Given the description of an element on the screen output the (x, y) to click on. 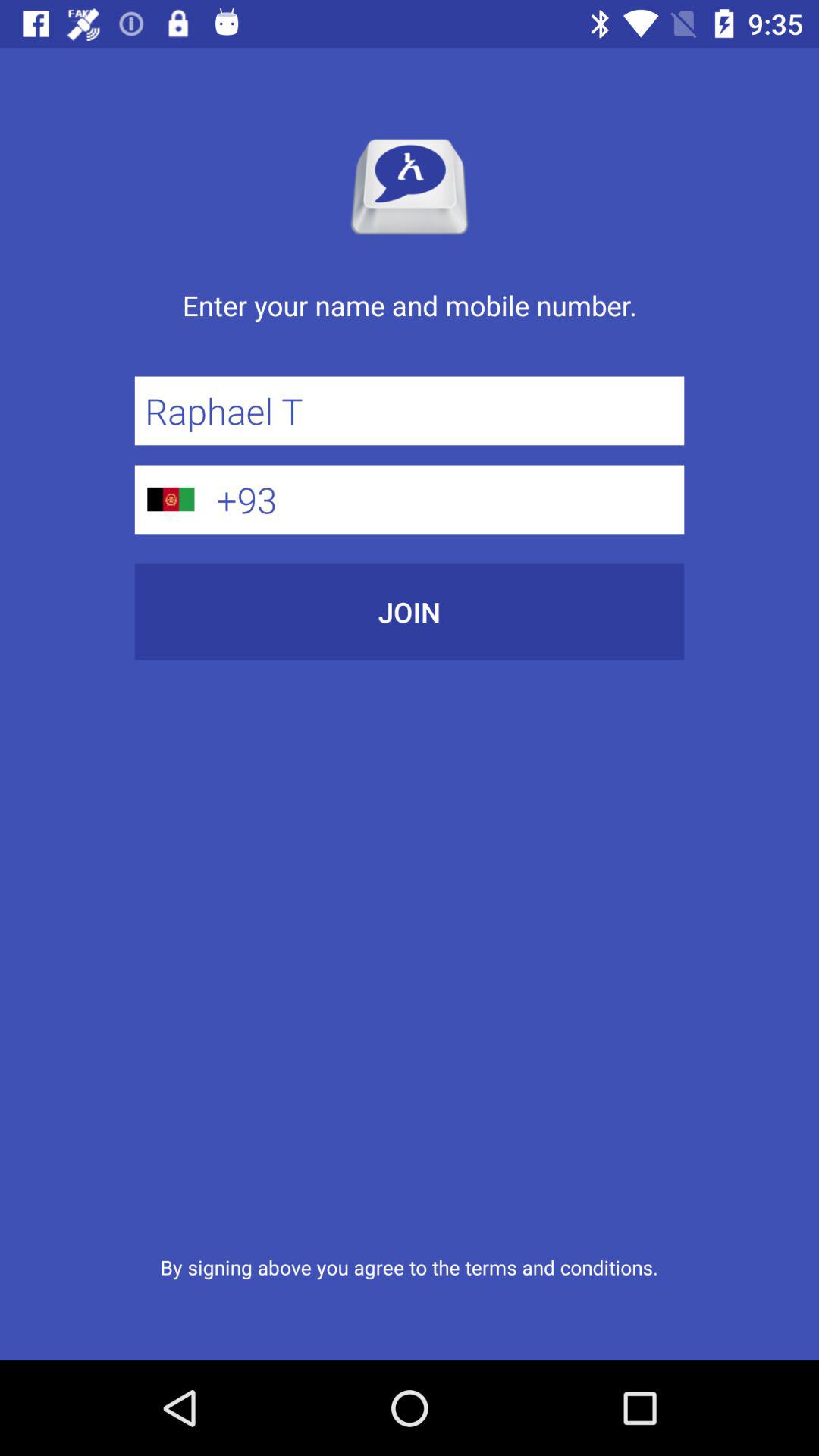
launch item below +93 item (409, 611)
